Given the description of an element on the screen output the (x, y) to click on. 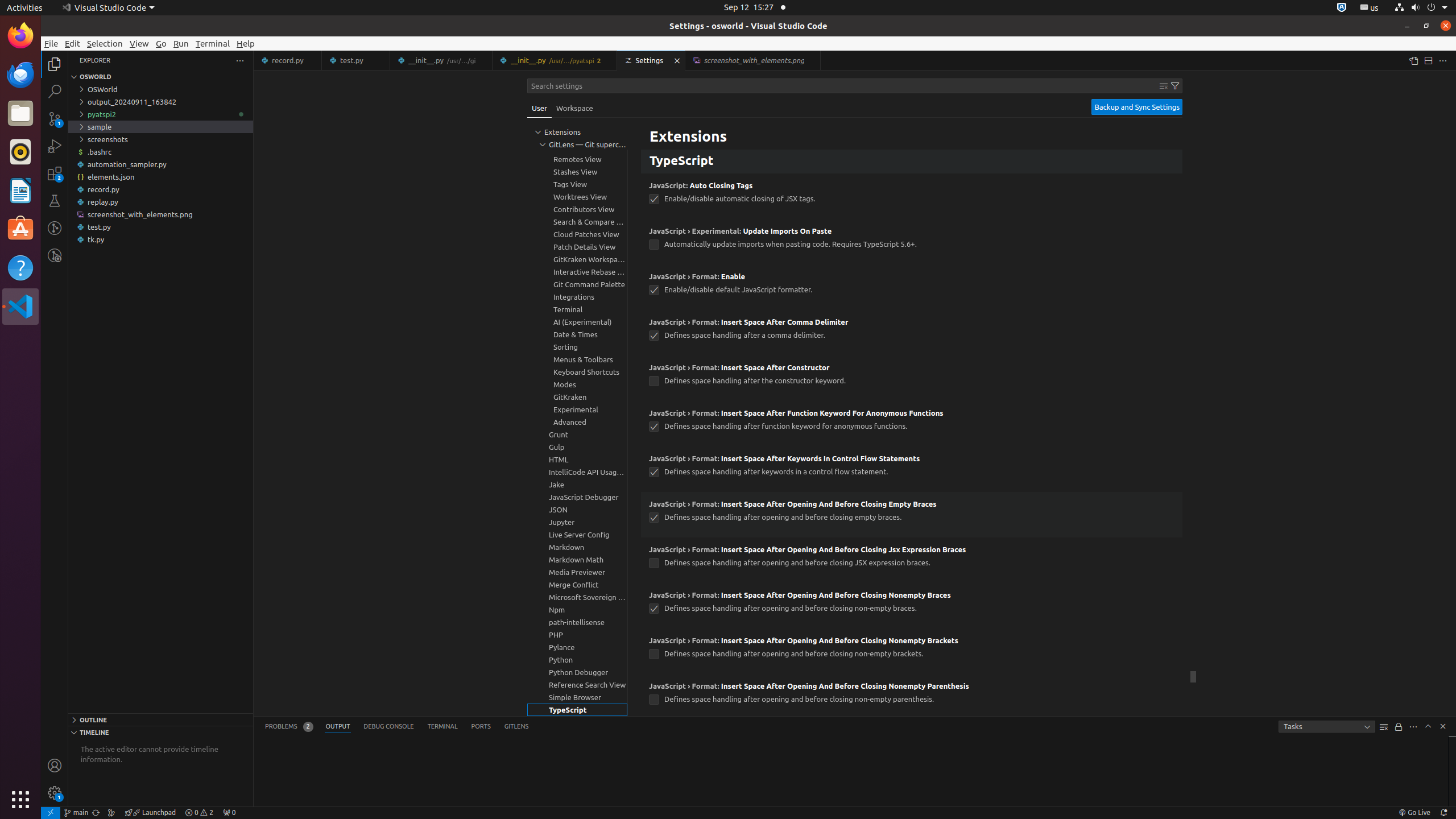
GitKraken Workspaces View, group Element type: tree-item (577, 259)
screenshot_with_elements.png Element type: tree-item (160, 214)
Advanced, group Element type: tree-item (577, 421)
Problems (Ctrl+Shift+M) - Total 2 Problems Element type: page-tab (288, 726)
Reference Search View, group Element type: tree-item (577, 684)
